Given the description of an element on the screen output the (x, y) to click on. 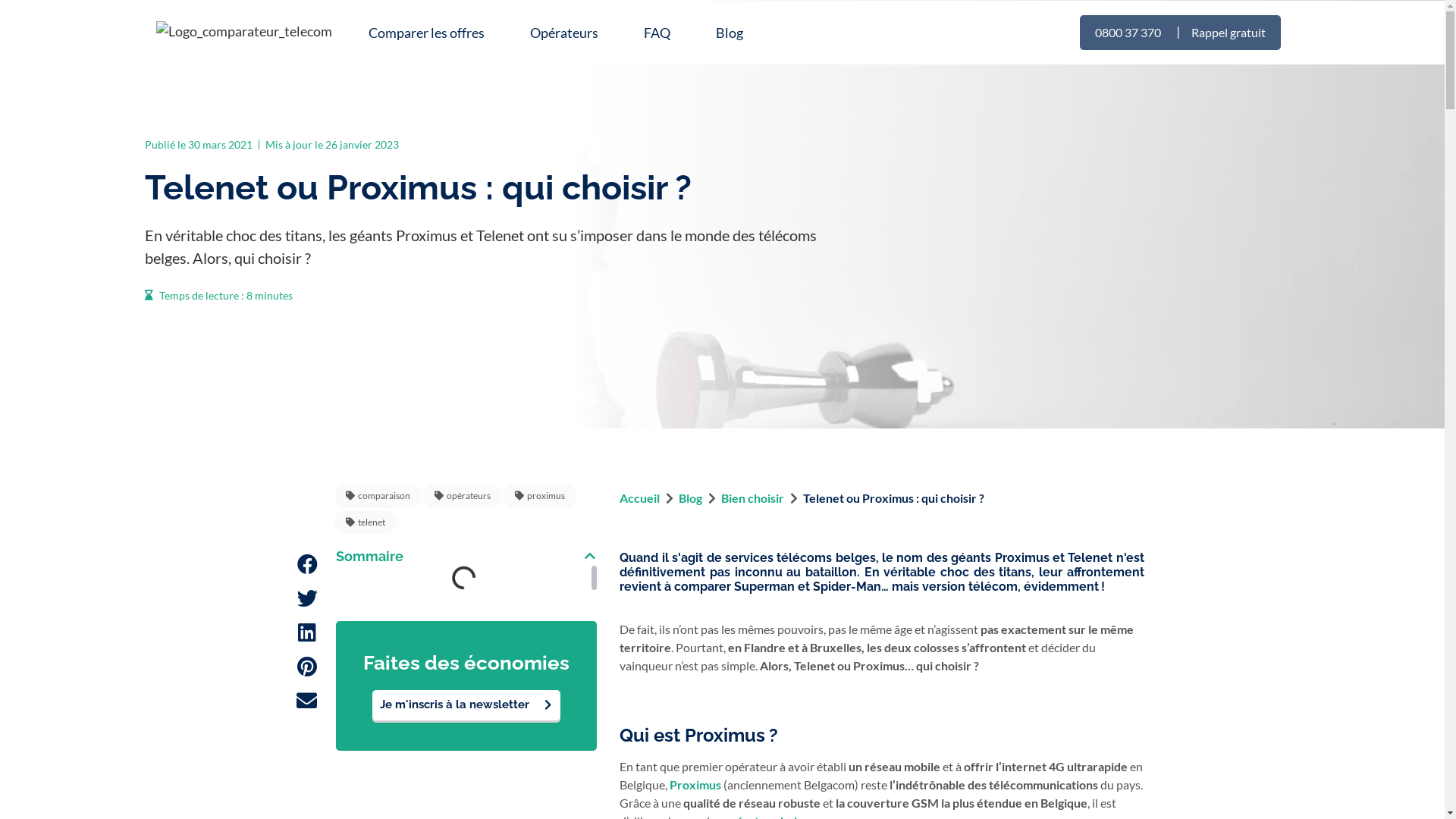
Proximus Element type: text (695, 784)
Rappel gratuit Element type: text (1228, 32)
comparaison Element type: text (377, 495)
telenet Element type: text (365, 522)
0800 37 370 Element type: text (1127, 32)
Bien choisir Element type: text (752, 497)
FAQ Element type: text (656, 32)
Blog Element type: text (690, 497)
Comparer les offres Element type: text (426, 32)
proximus Element type: text (539, 495)
Accueil Element type: text (639, 497)
Blog Element type: text (729, 32)
